Given the description of an element on the screen output the (x, y) to click on. 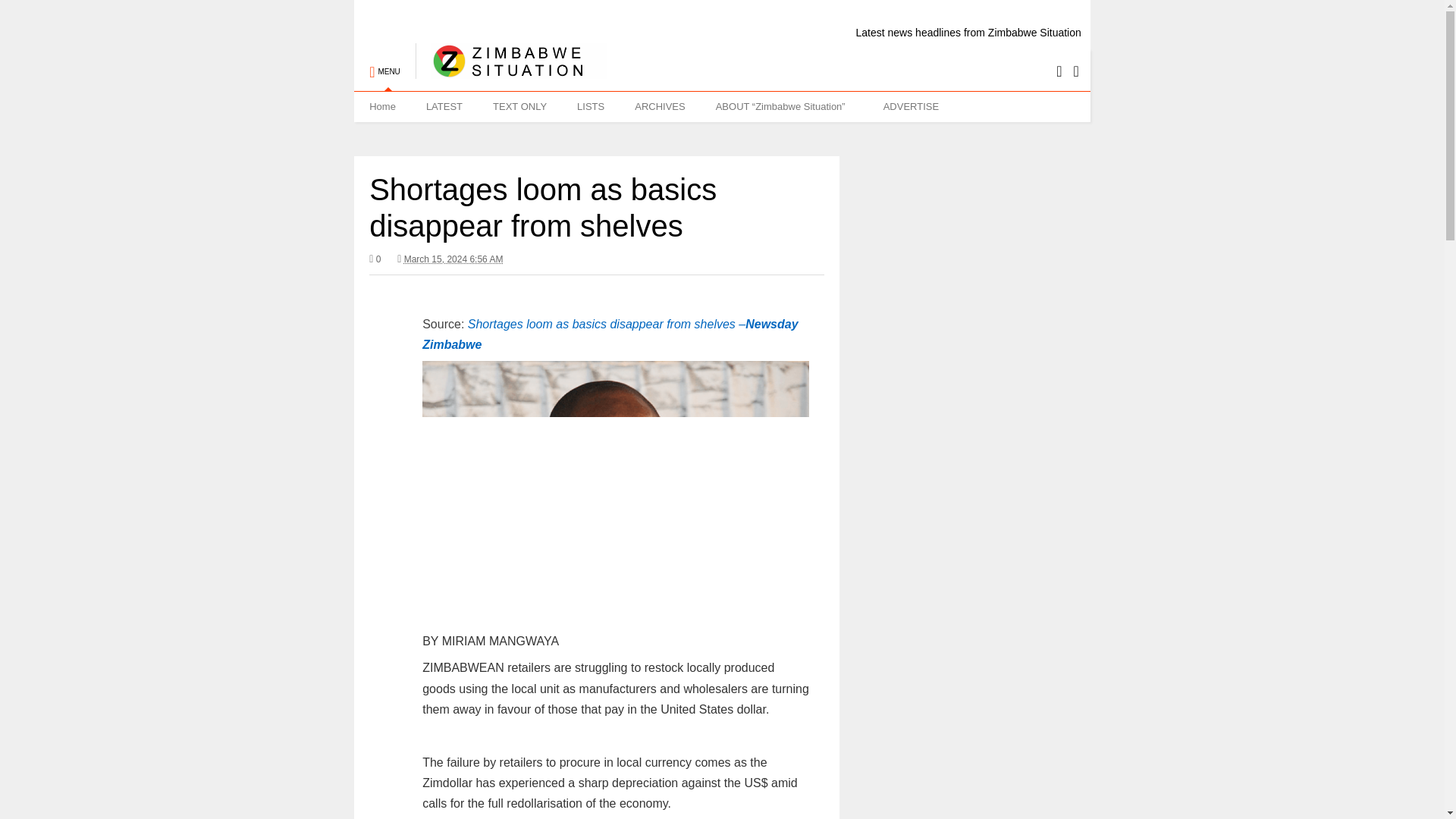
ADVERTISE (910, 106)
Home (381, 106)
March 15, 2024 6:56 AM (449, 258)
March 15, 2024 6:58 AM (453, 258)
MENU (383, 65)
LISTS (591, 106)
LATEST (443, 106)
ARCHIVES (660, 106)
TEXT ONLY (519, 106)
Zimbabwe Situation (510, 71)
